Given the description of an element on the screen output the (x, y) to click on. 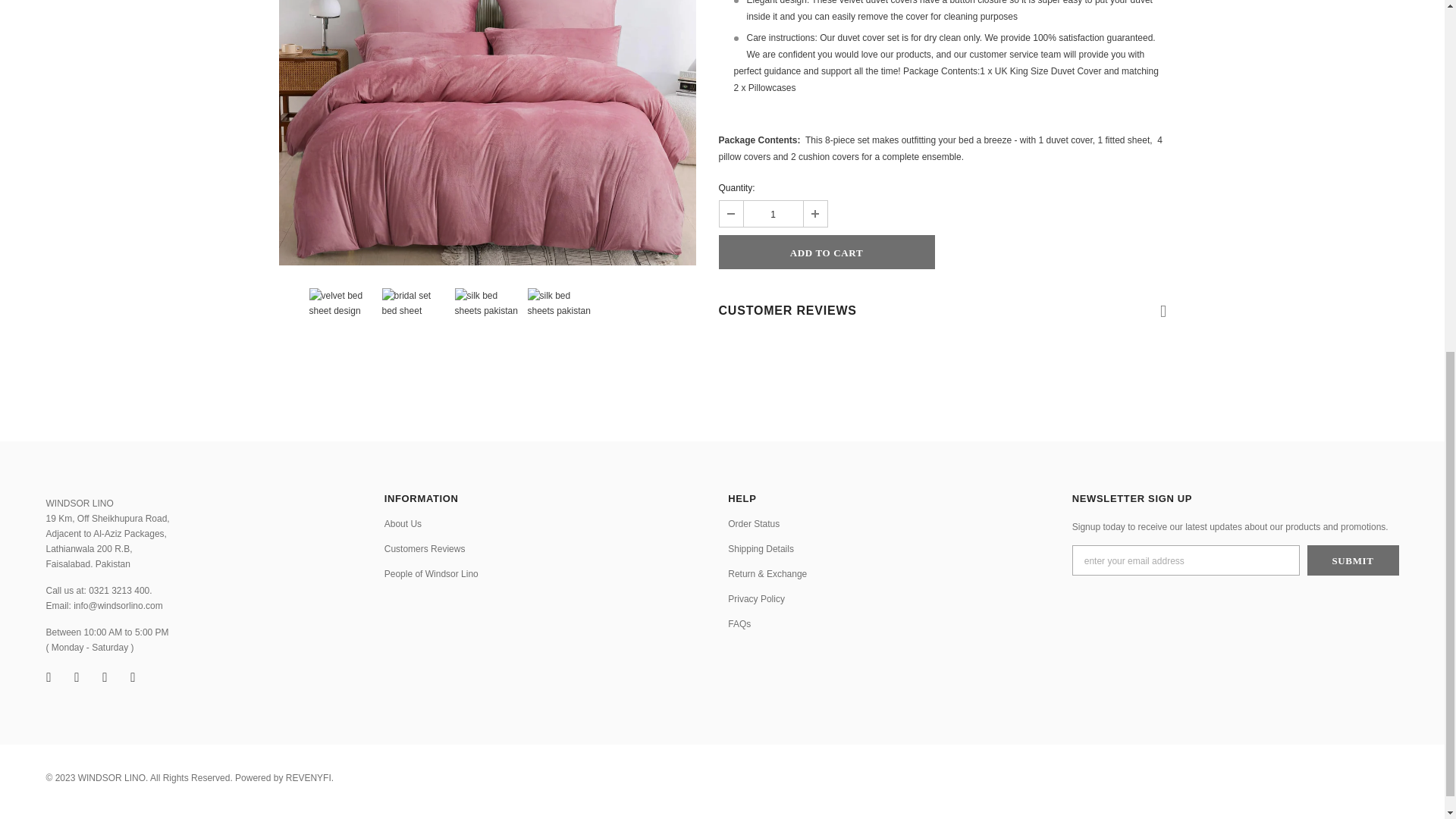
Add to Cart (826, 252)
1 (772, 213)
Submit (1353, 560)
